Given the description of an element on the screen output the (x, y) to click on. 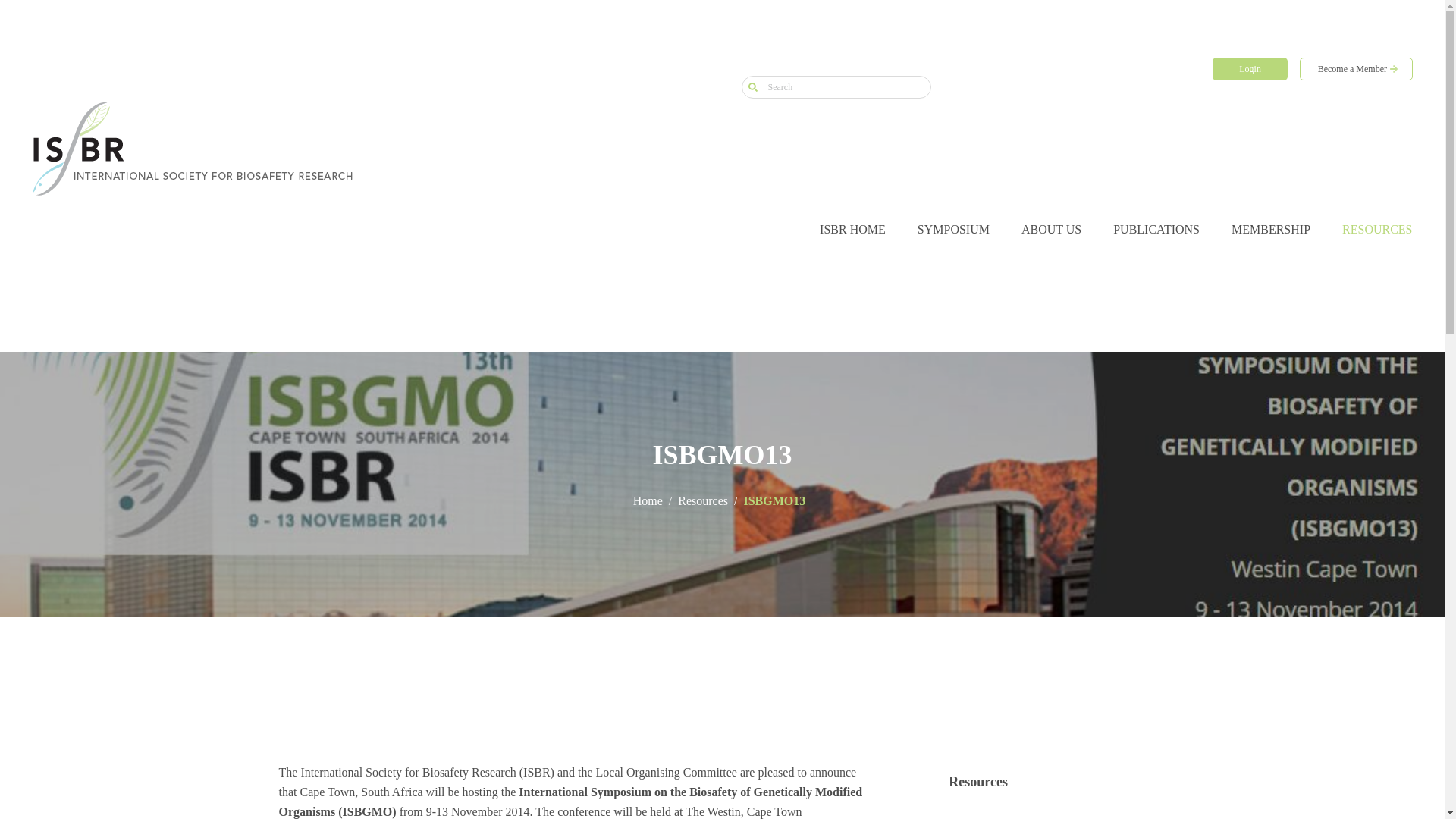
Become a Member (1356, 68)
Resources (703, 500)
PUBLICATIONS (1156, 229)
RESOURCES (1377, 229)
MEMBERSHIP (1270, 229)
Home (647, 500)
ABOUT US (1051, 229)
ISBR HOME (852, 229)
Become a Member (1356, 68)
Resources (978, 781)
